Given the description of an element on the screen output the (x, y) to click on. 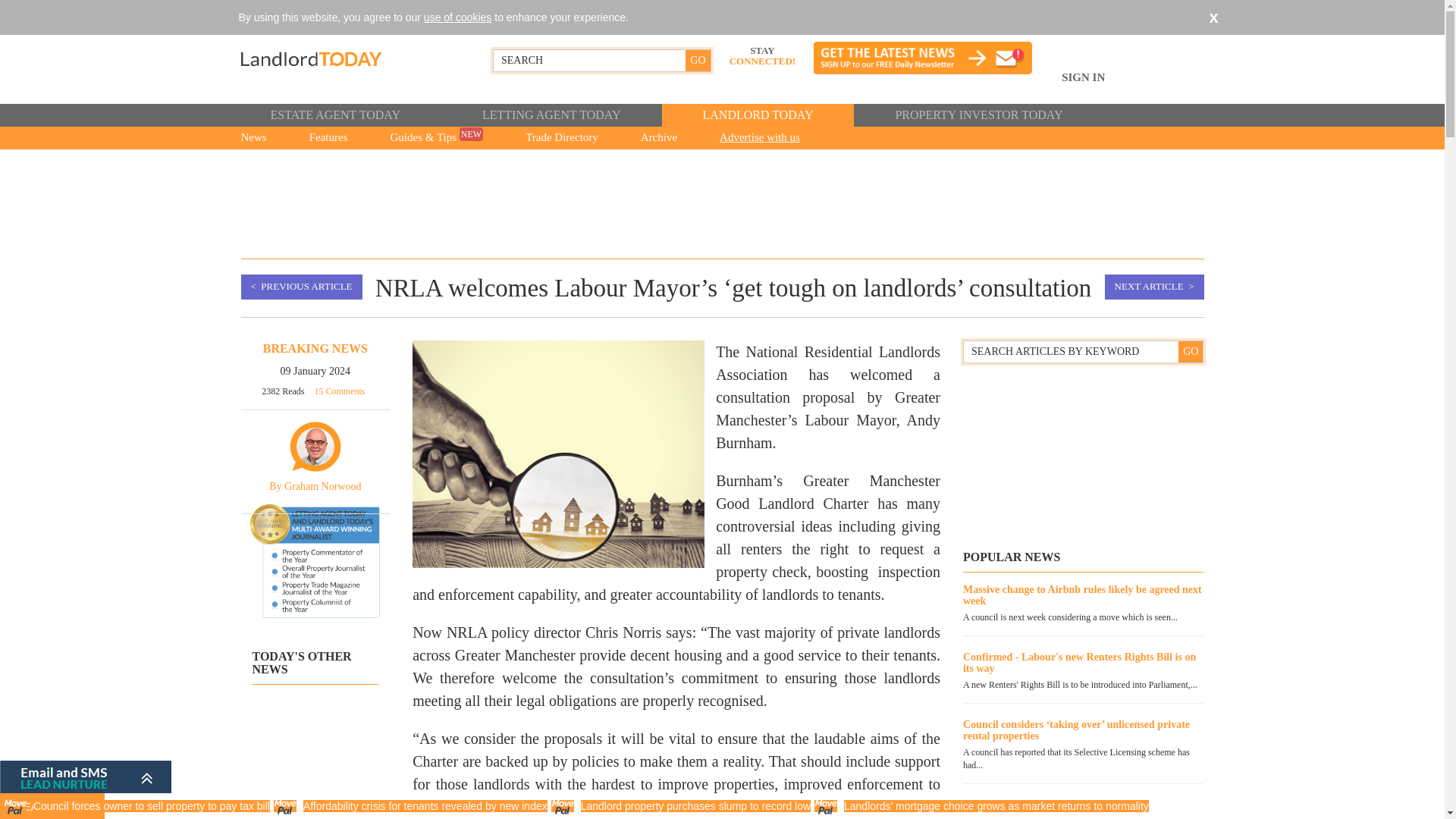
GO (1189, 351)
Advertise with us (759, 137)
GO (697, 60)
Trade Directory (561, 137)
SIGN IN (1083, 86)
GO (697, 60)
use of cookies (457, 17)
Features (328, 137)
PROPERTY INVESTOR TODAY (978, 115)
LETTING AGENT TODAY (551, 115)
News (252, 137)
Landlord Today (348, 58)
Archive (658, 137)
ESTATE AGENT TODAY (334, 115)
LANDLORD TODAY (757, 115)
